Given the description of an element on the screen output the (x, y) to click on. 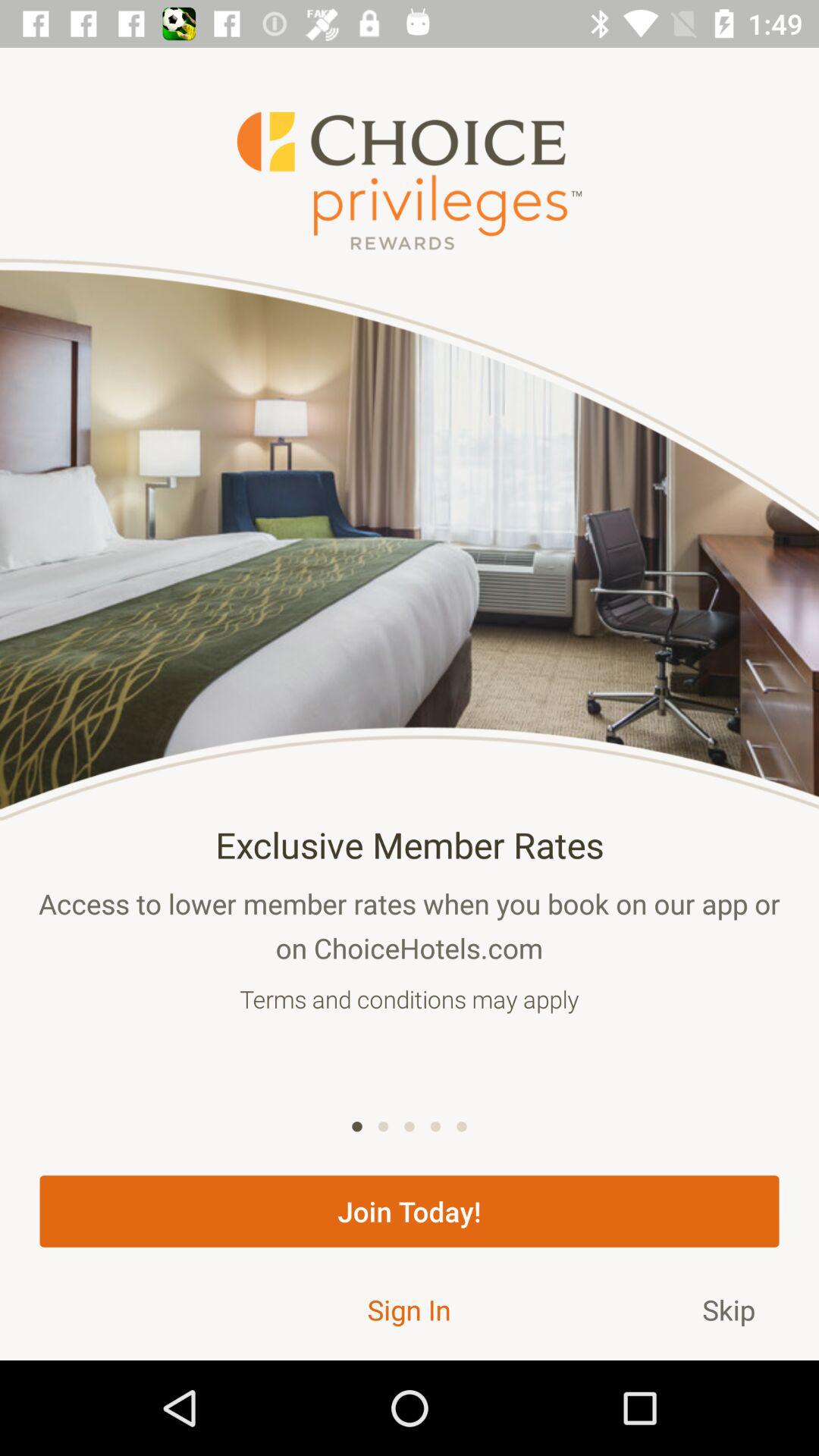
select the icon to the right of sign in item (728, 1309)
